Given the description of an element on the screen output the (x, y) to click on. 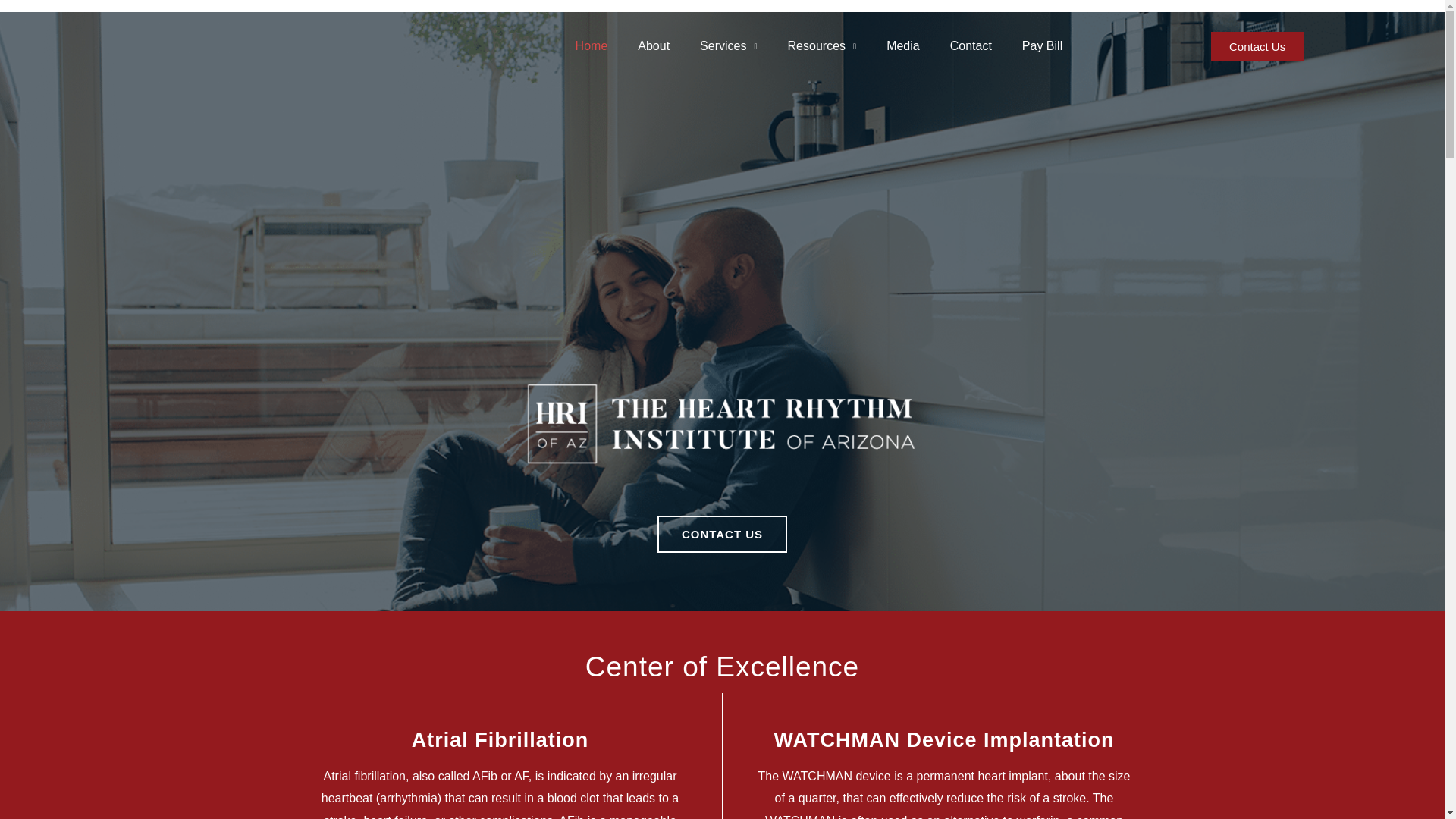
About (653, 45)
Services (727, 45)
Contact (970, 45)
Resources (822, 45)
Home (591, 45)
Media (902, 45)
